Given the description of an element on the screen output the (x, y) to click on. 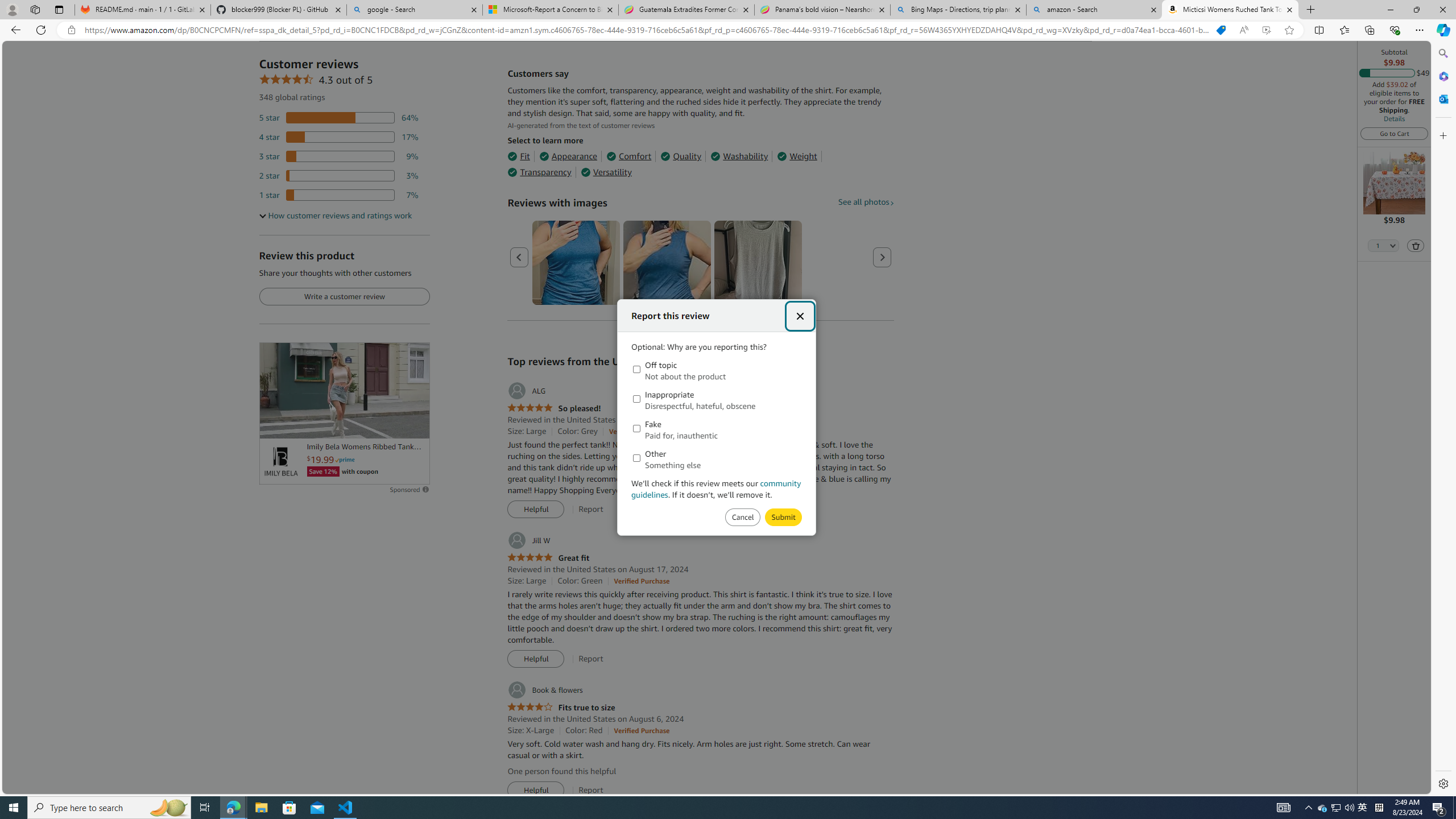
Pause (273, 424)
Book & flowers (544, 690)
9 percent of reviews have 3 stars (339, 156)
Washability (739, 156)
Next page (882, 256)
